Given the description of an element on the screen output the (x, y) to click on. 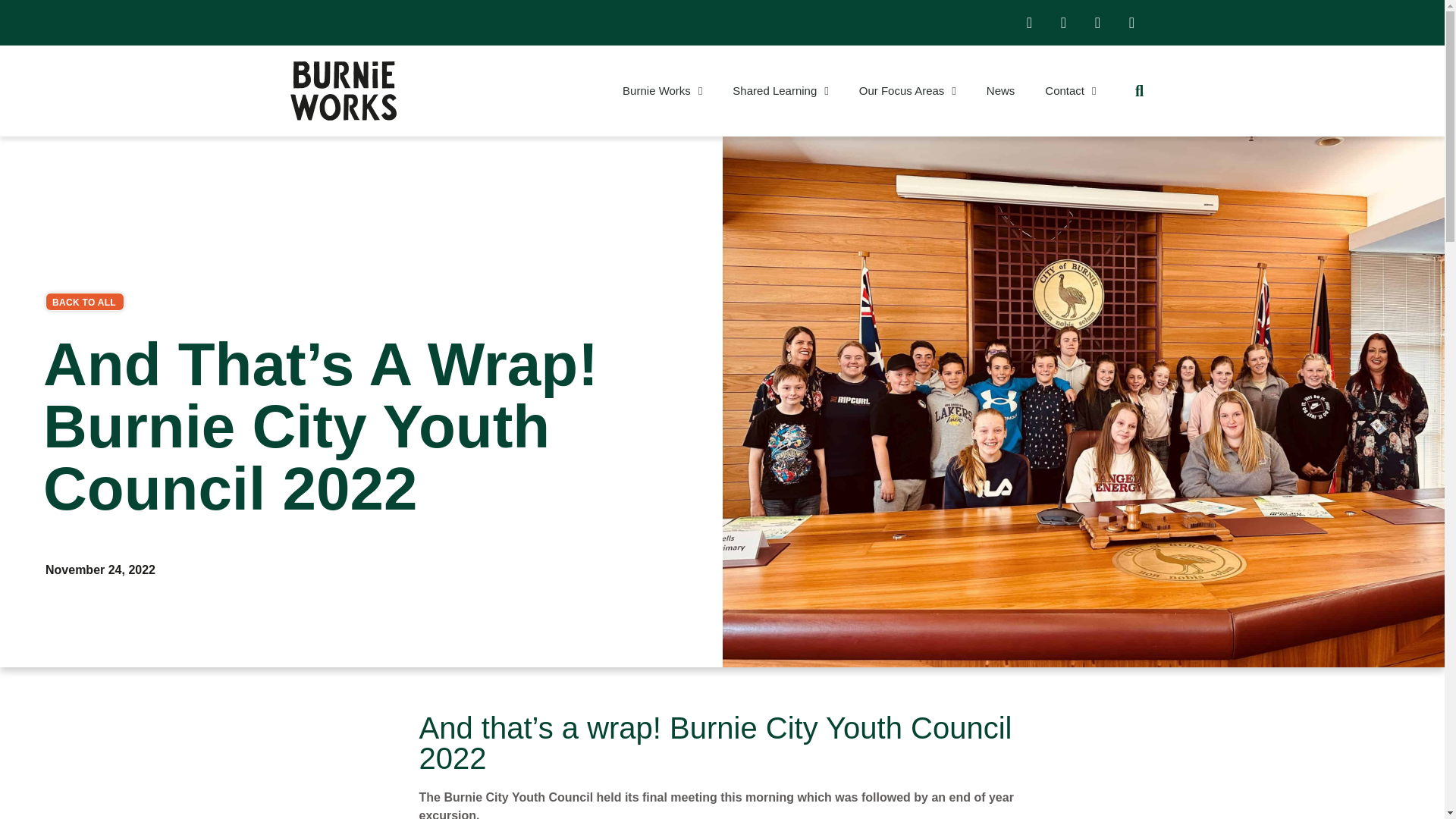
Burnie Works (662, 90)
Our Focus Areas (907, 90)
Contact (1069, 90)
Shared Learning (780, 90)
